Given the description of an element on the screen output the (x, y) to click on. 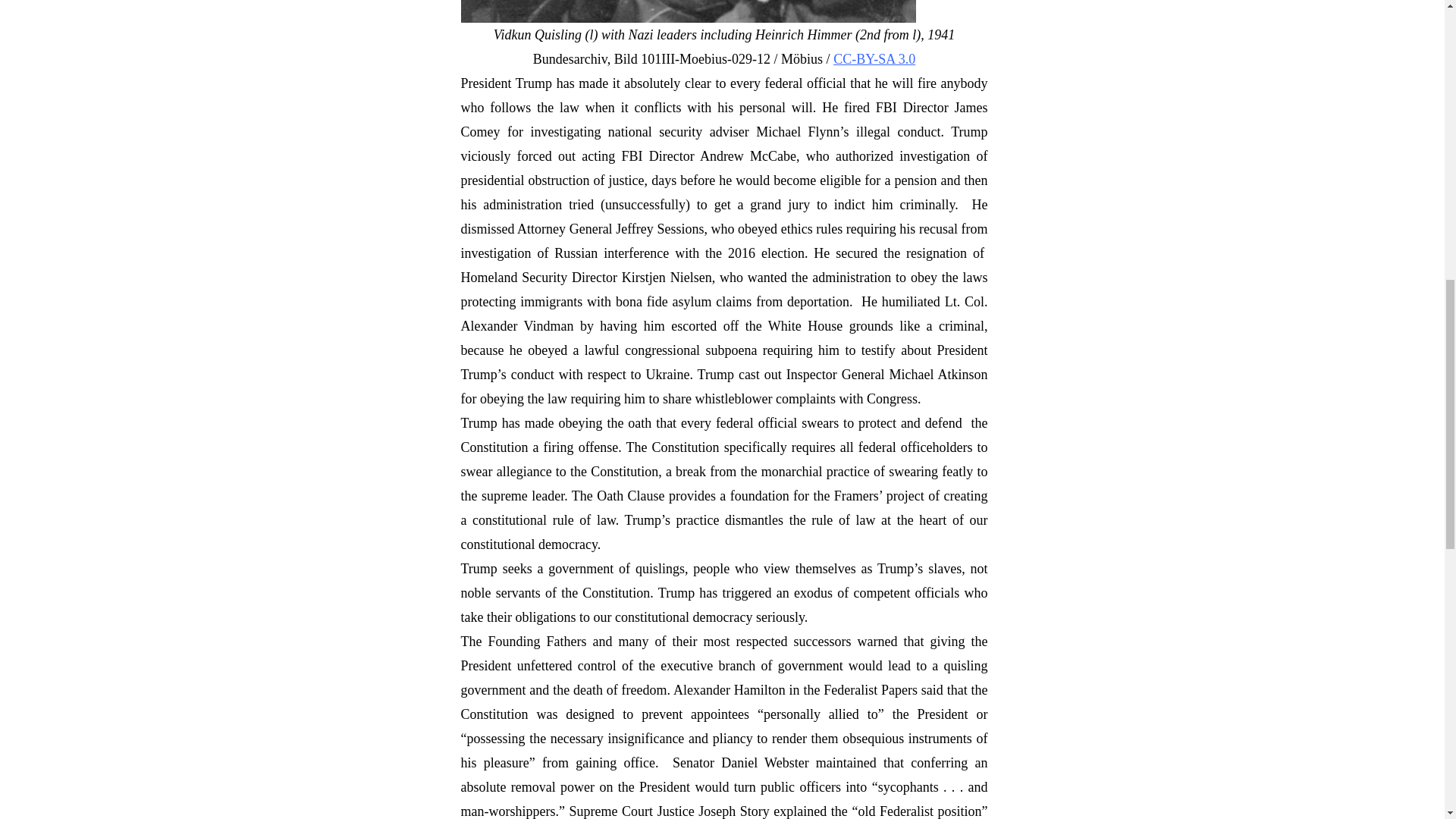
CC-BY-SA 3.0 (873, 58)
